Given the description of an element on the screen output the (x, y) to click on. 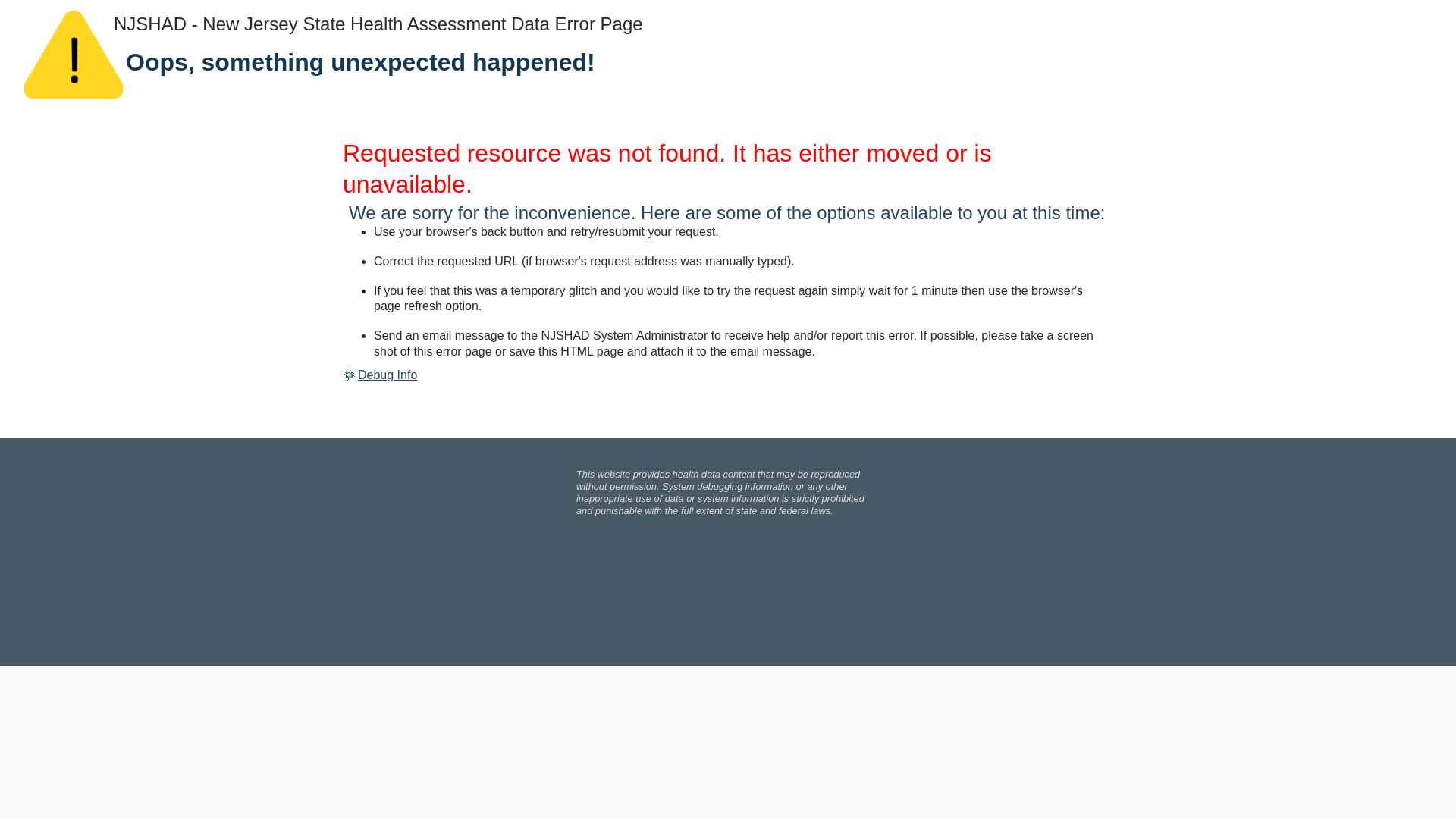
HTTP Status Code: 500 (727, 169)
Show Debugging Information (379, 374)
Debug Info (379, 374)
